Given the description of an element on the screen output the (x, y) to click on. 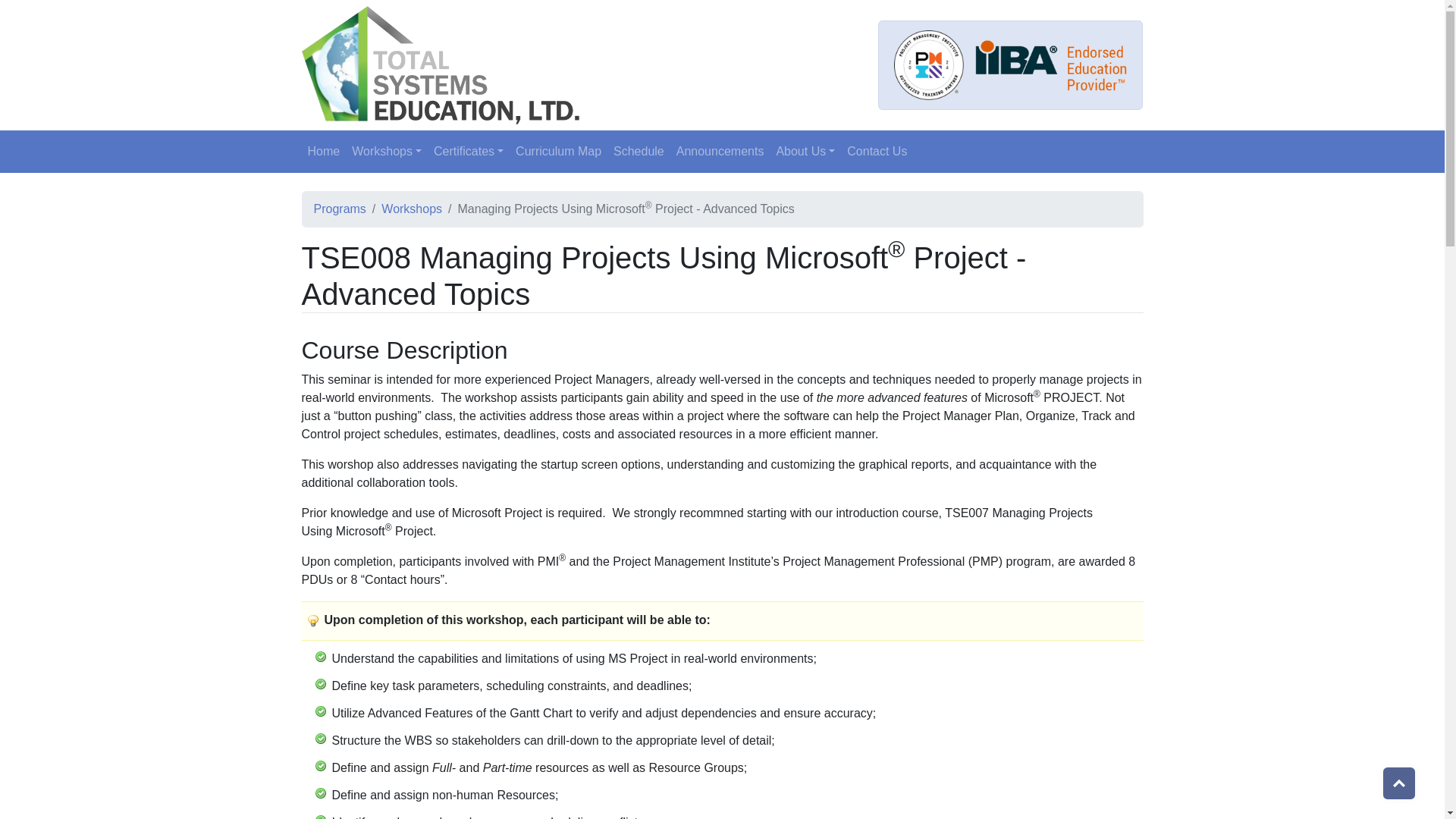
Curriculum Map (558, 151)
IIBA Endorsed Education Provider (1050, 65)
Contact Us (876, 151)
Workshops (387, 151)
Workshops (411, 208)
Home (323, 151)
Programs (340, 208)
Project Management Institute Authorized Training Partner (927, 64)
Certificates (468, 151)
Announcements (719, 151)
Schedule (638, 151)
About Us (805, 151)
